Given the description of an element on the screen output the (x, y) to click on. 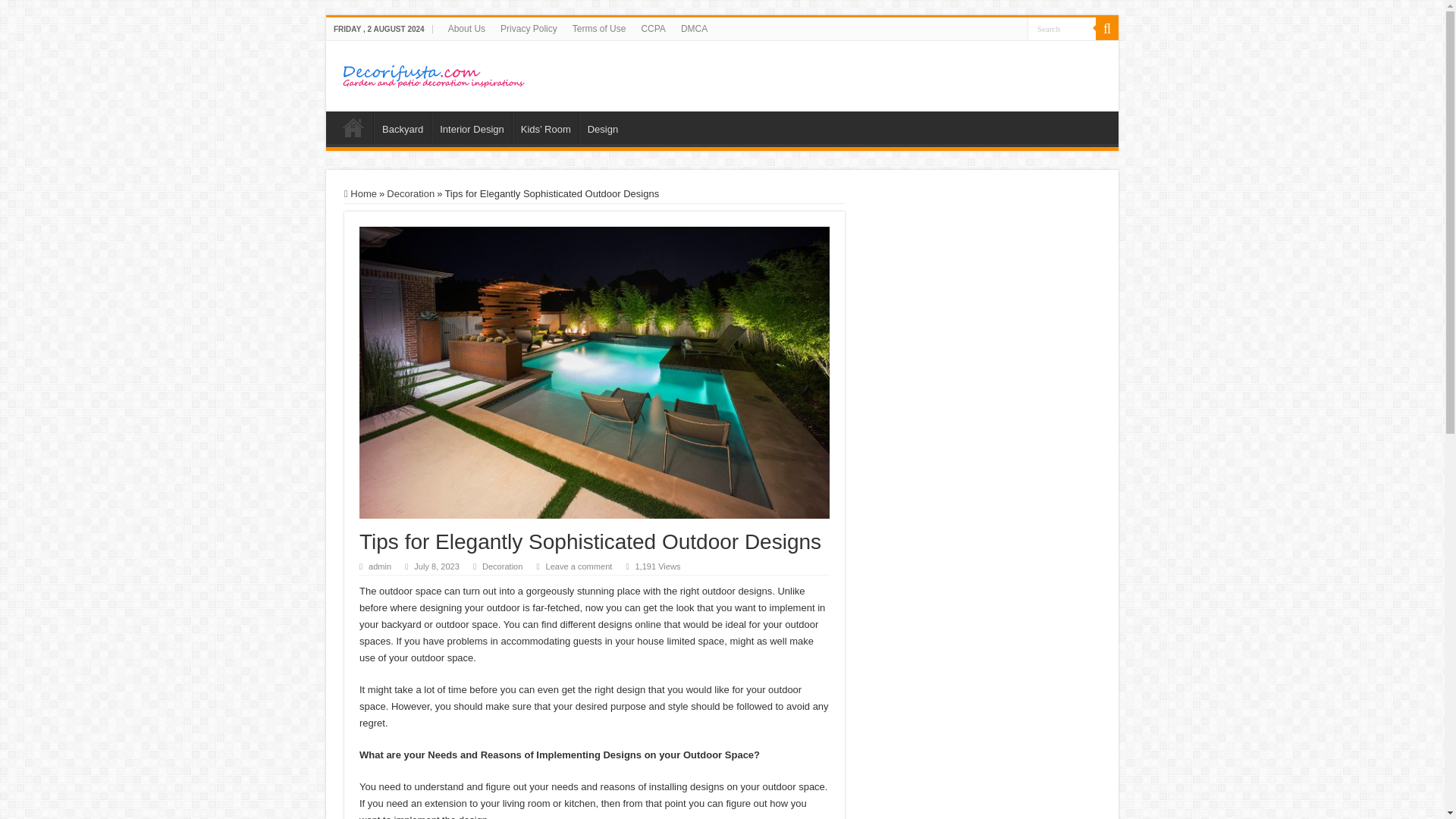
HOME (352, 127)
Home (360, 193)
Search (1107, 28)
Interior Design (471, 127)
Decoration (501, 565)
Design (602, 127)
Leave a comment (579, 565)
Terms of Use (598, 28)
admin (379, 565)
CCPA (652, 28)
About Us (467, 28)
DMCA (693, 28)
Decoration (410, 193)
Backyard (402, 127)
Search (1061, 28)
